Given the description of an element on the screen output the (x, y) to click on. 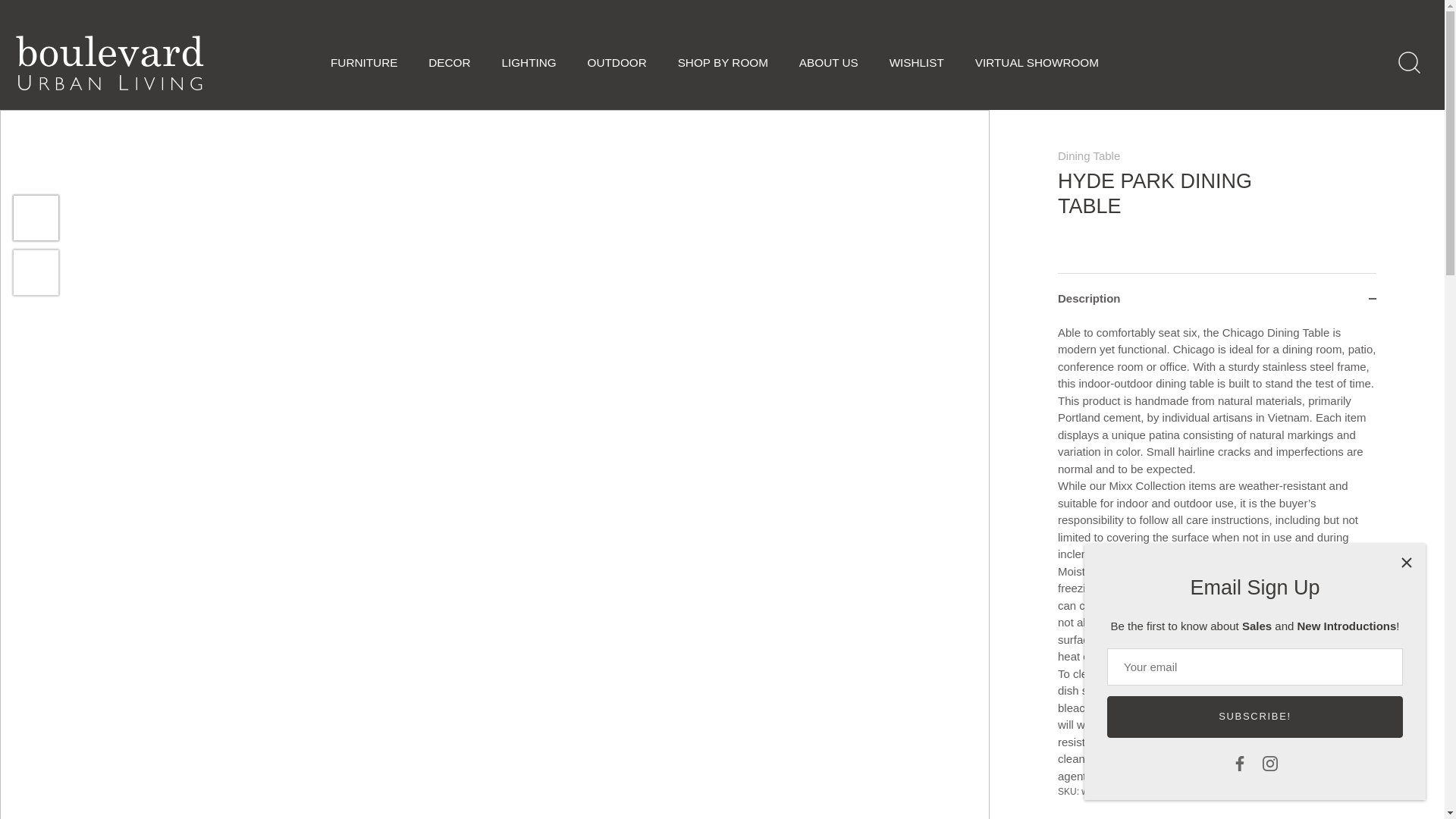
FURNITURE (364, 62)
DECOR (449, 62)
